Given the description of an element on the screen output the (x, y) to click on. 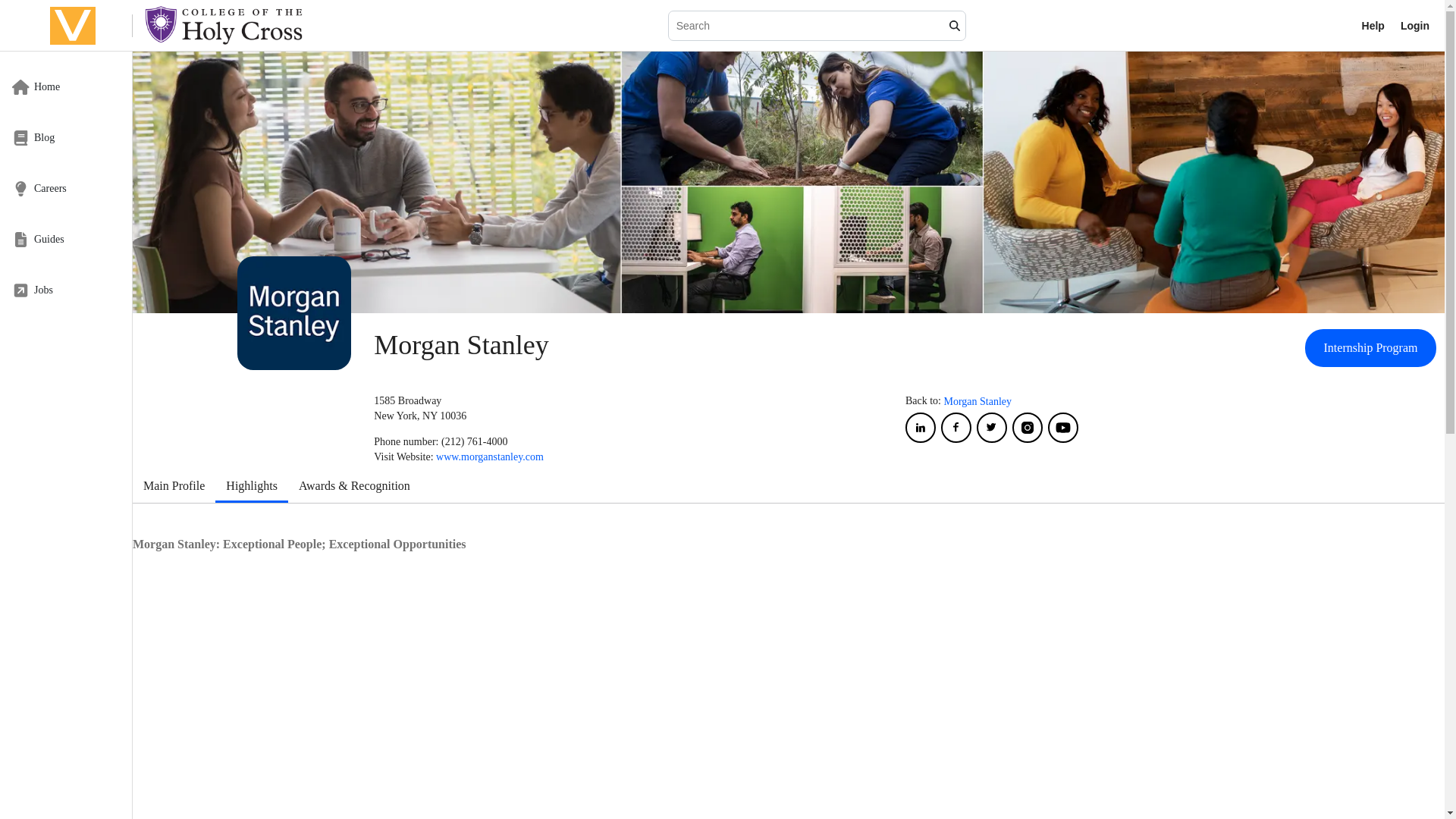
www.morganstanley.com (489, 457)
Jobs (66, 289)
Blog (66, 137)
Login (1414, 25)
Internship Program (1369, 347)
Careers (66, 188)
Home (66, 86)
Blog (66, 137)
Jobs (66, 289)
Morgan Stanley (977, 401)
Guides (66, 239)
Careers (66, 188)
Guides (66, 239)
Main Profile (173, 487)
Home (66, 86)
